Given the description of an element on the screen output the (x, y) to click on. 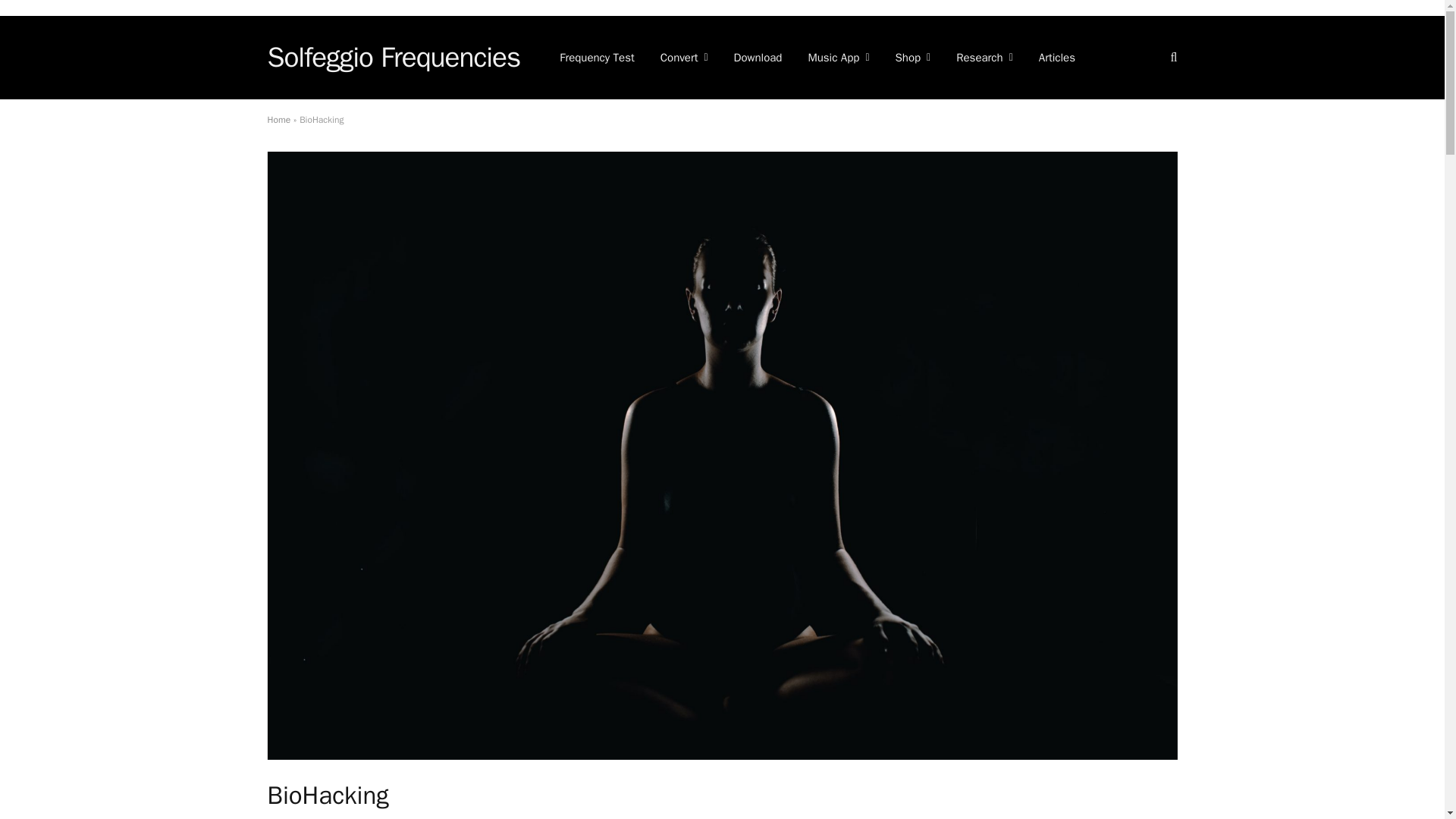
Solfeggio Frequencies (392, 57)
Frequency Test (597, 57)
Solfeggio Frequencies (392, 57)
BioHacking (721, 756)
